Given the description of an element on the screen output the (x, y) to click on. 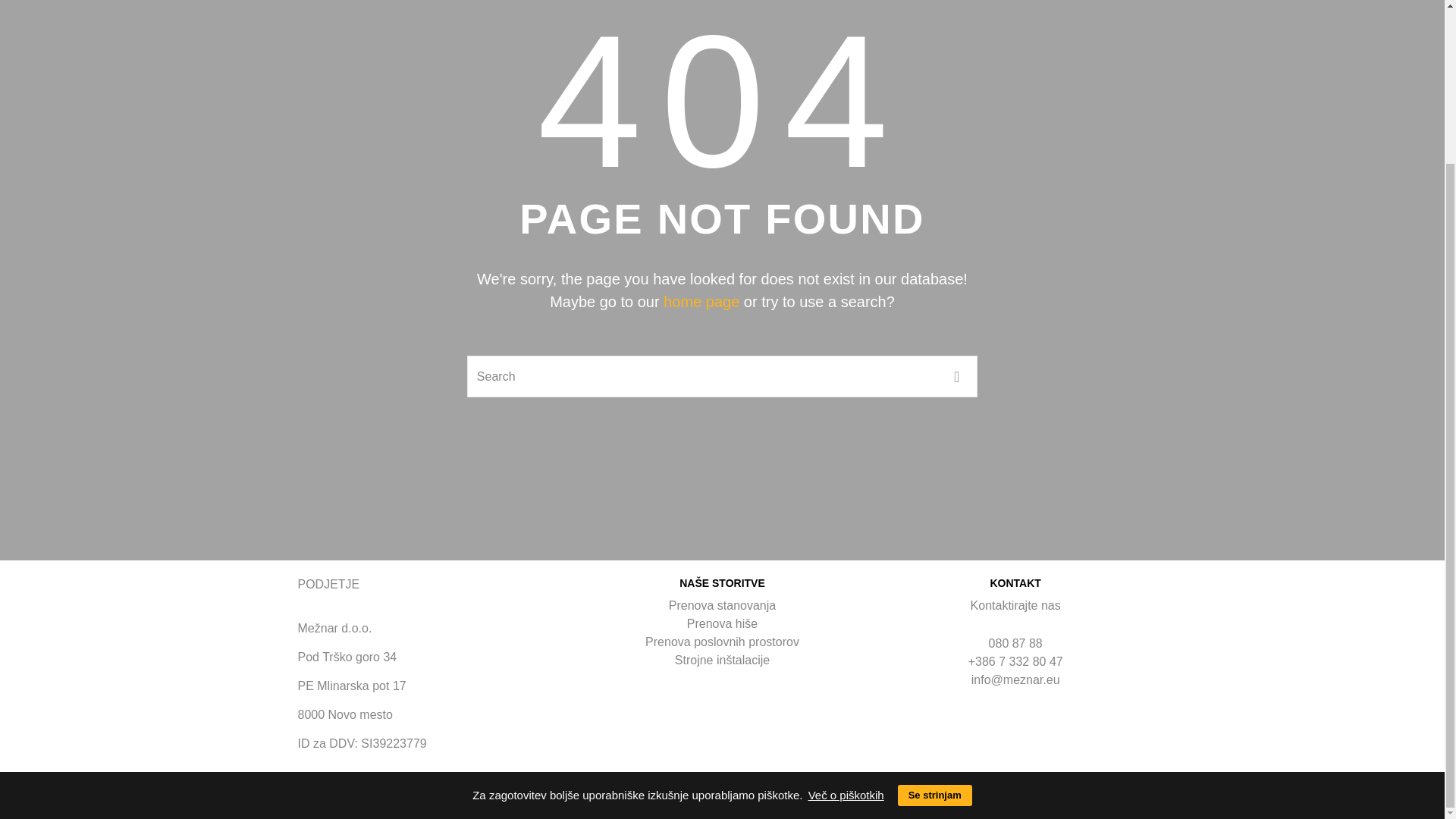
Prenova poslovnih prostorov (722, 641)
Kontaktirajte nas (1016, 604)
Se strinjam (935, 601)
home page (701, 301)
Prenova stanovanja (722, 604)
